Given the description of an element on the screen output the (x, y) to click on. 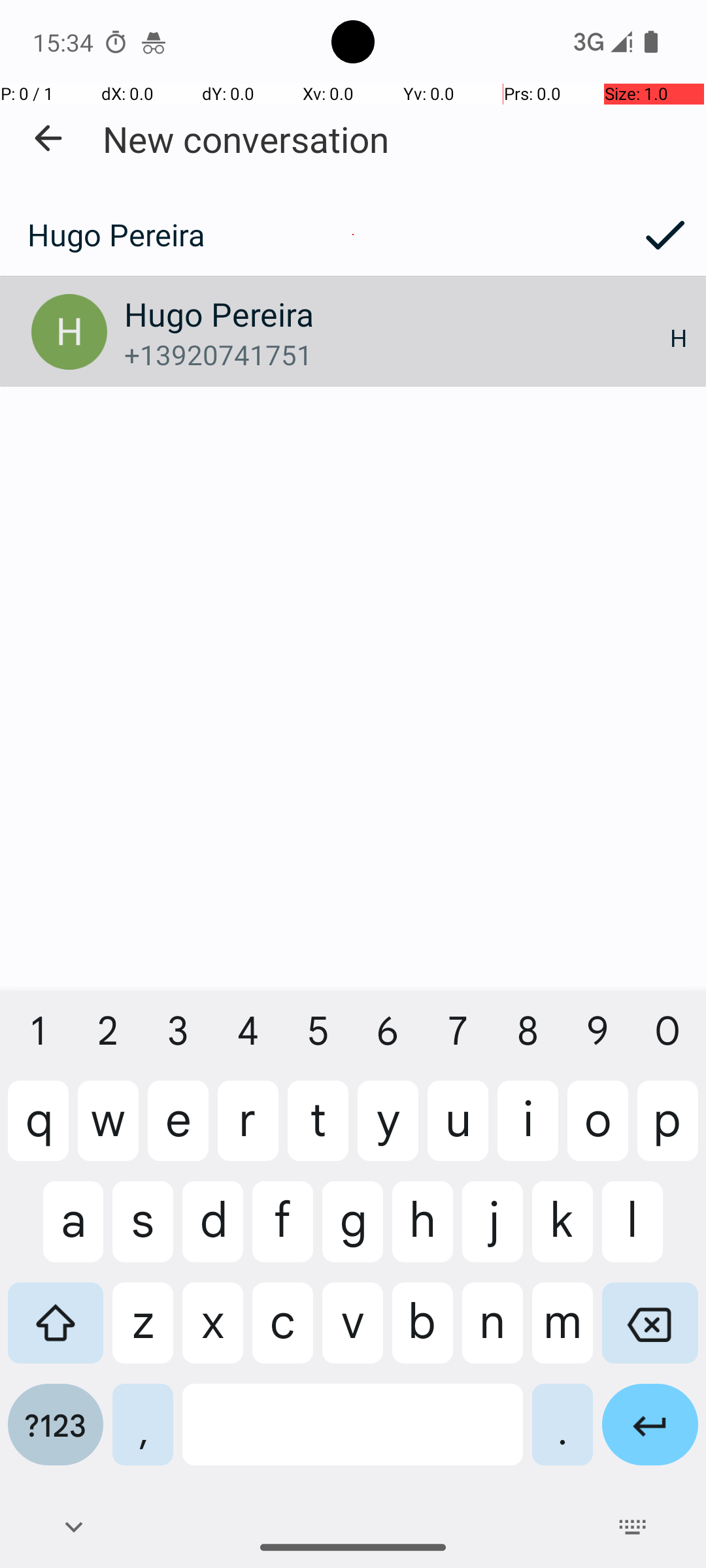
+13920741751 Element type: android.widget.TextView (397, 354)
